Given the description of an element on the screen output the (x, y) to click on. 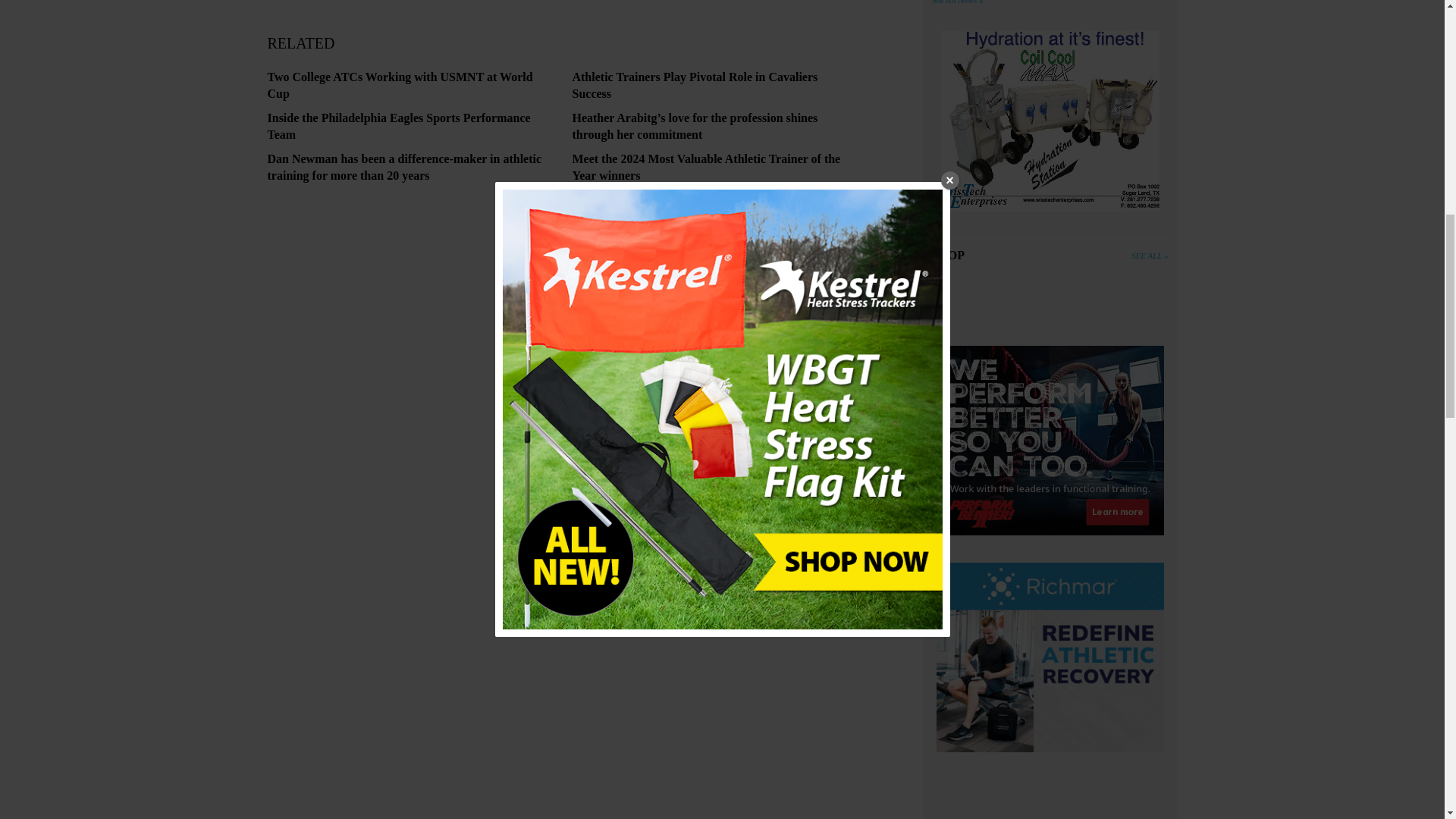
Wisstech (1049, 123)
